Given the description of an element on the screen output the (x, y) to click on. 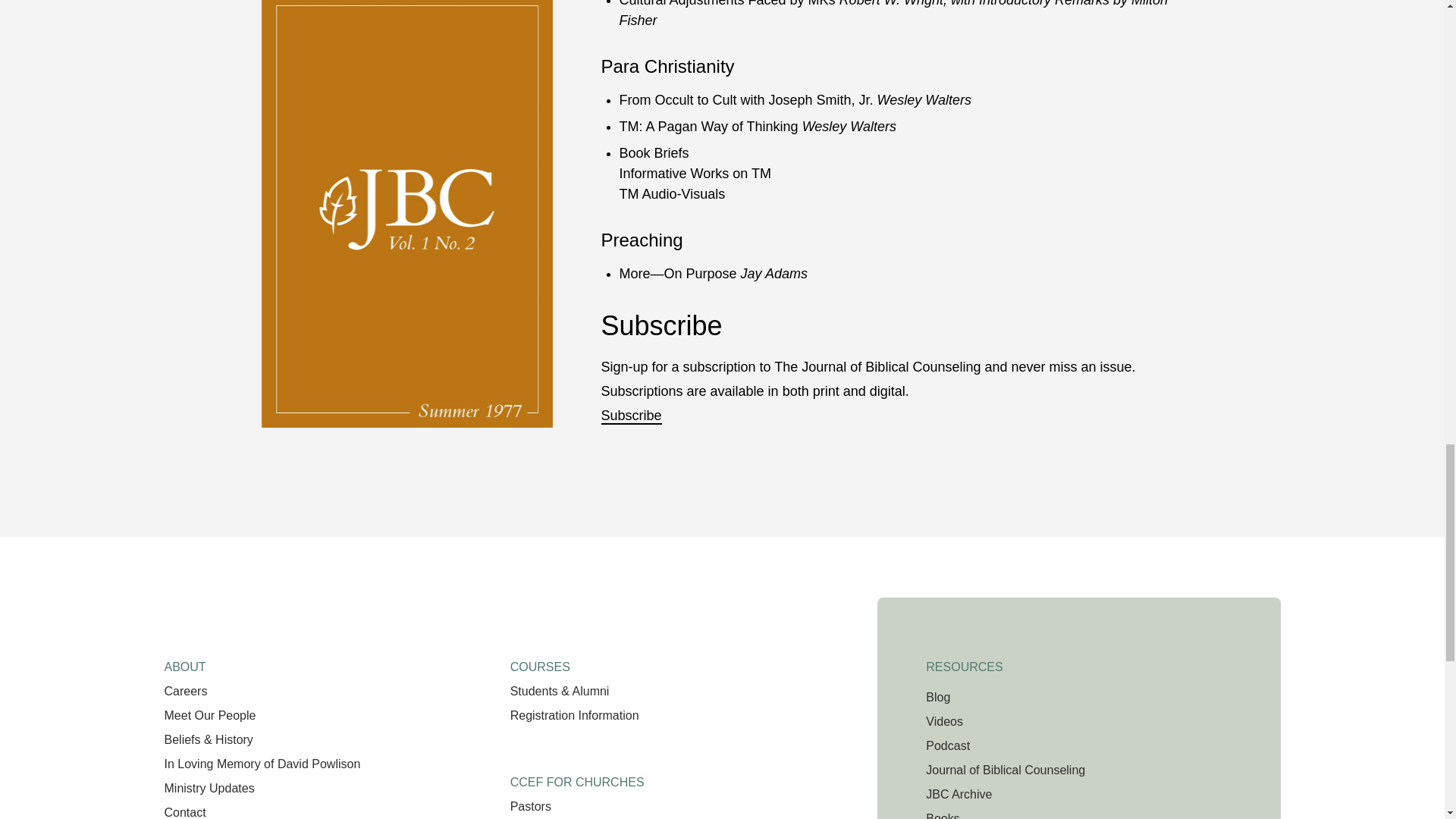
ABOUT (184, 661)
Contact (184, 812)
Subscribe (630, 416)
Meet Our People (209, 715)
Ministry Updates (208, 788)
Careers (184, 690)
In Loving Memory of David Powlison (261, 763)
